Given the description of an element on the screen output the (x, y) to click on. 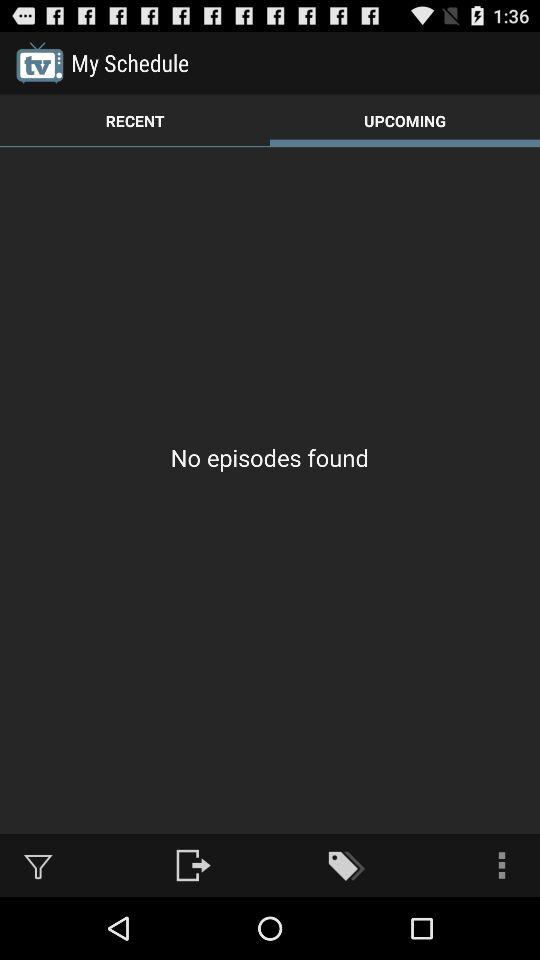
press upcoming at the top right corner (405, 120)
